Given the description of an element on the screen output the (x, y) to click on. 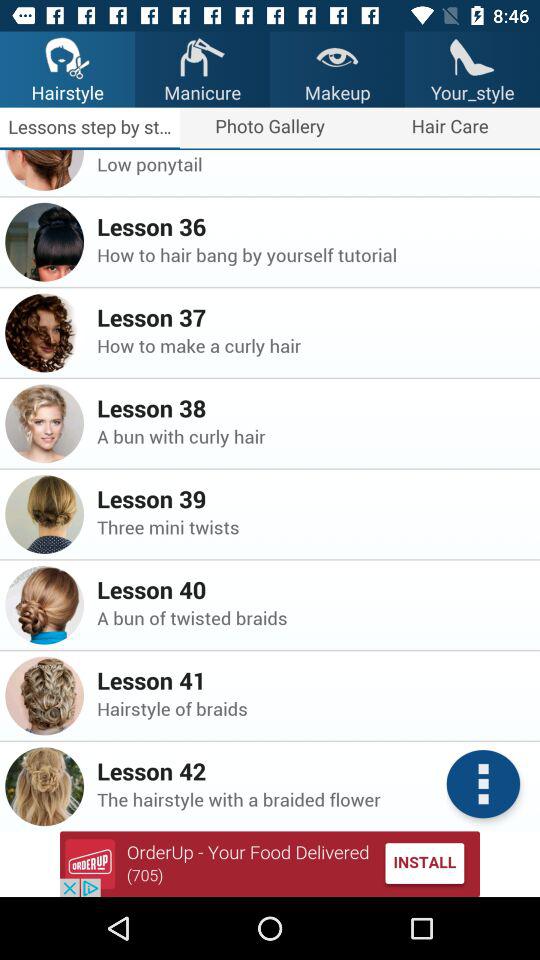
go to advertisement (270, 864)
